Given the description of an element on the screen output the (x, y) to click on. 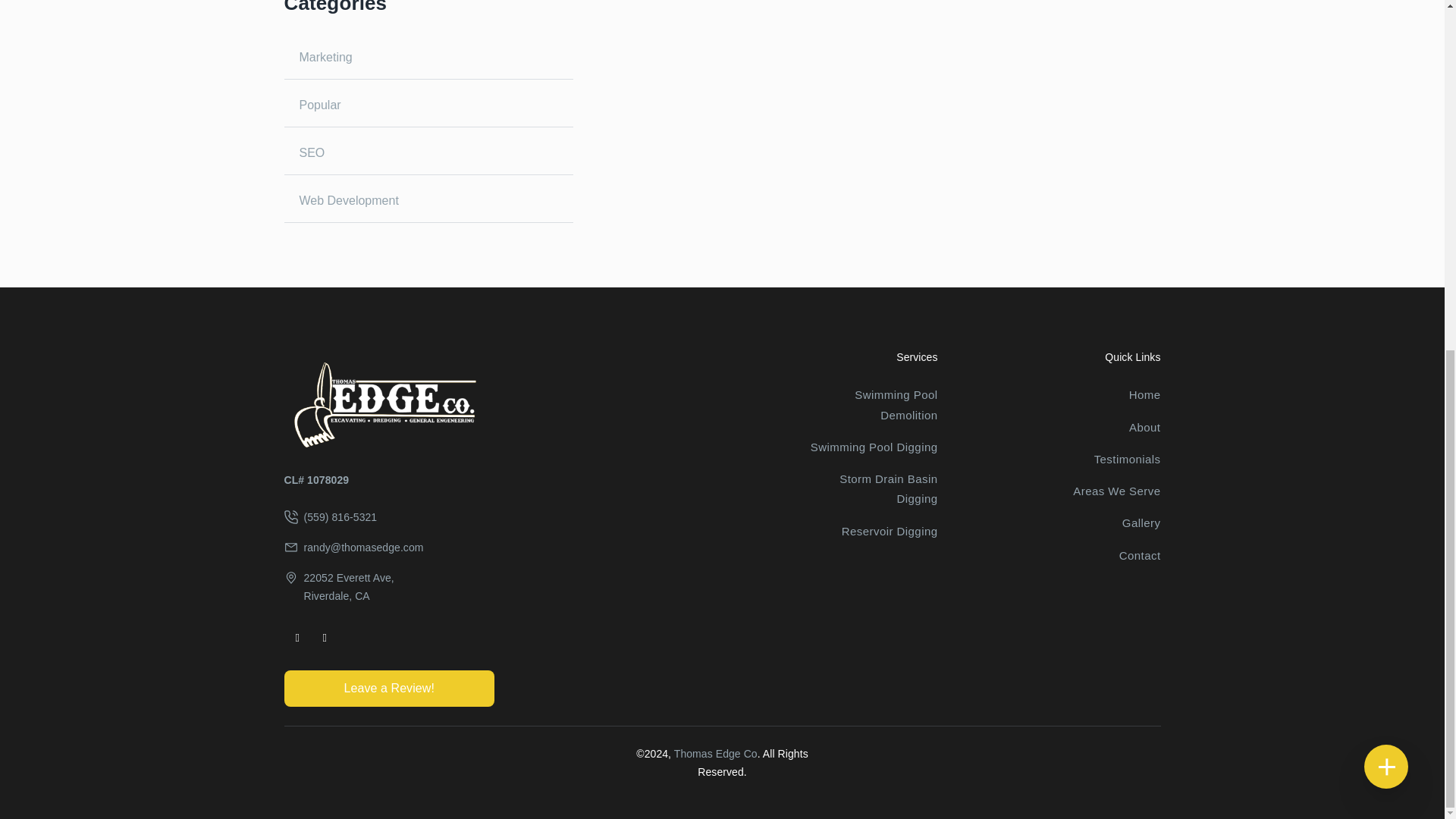
Marketing (427, 57)
Popular (427, 105)
Web Development (427, 200)
SEO (427, 153)
